Given the description of an element on the screen output the (x, y) to click on. 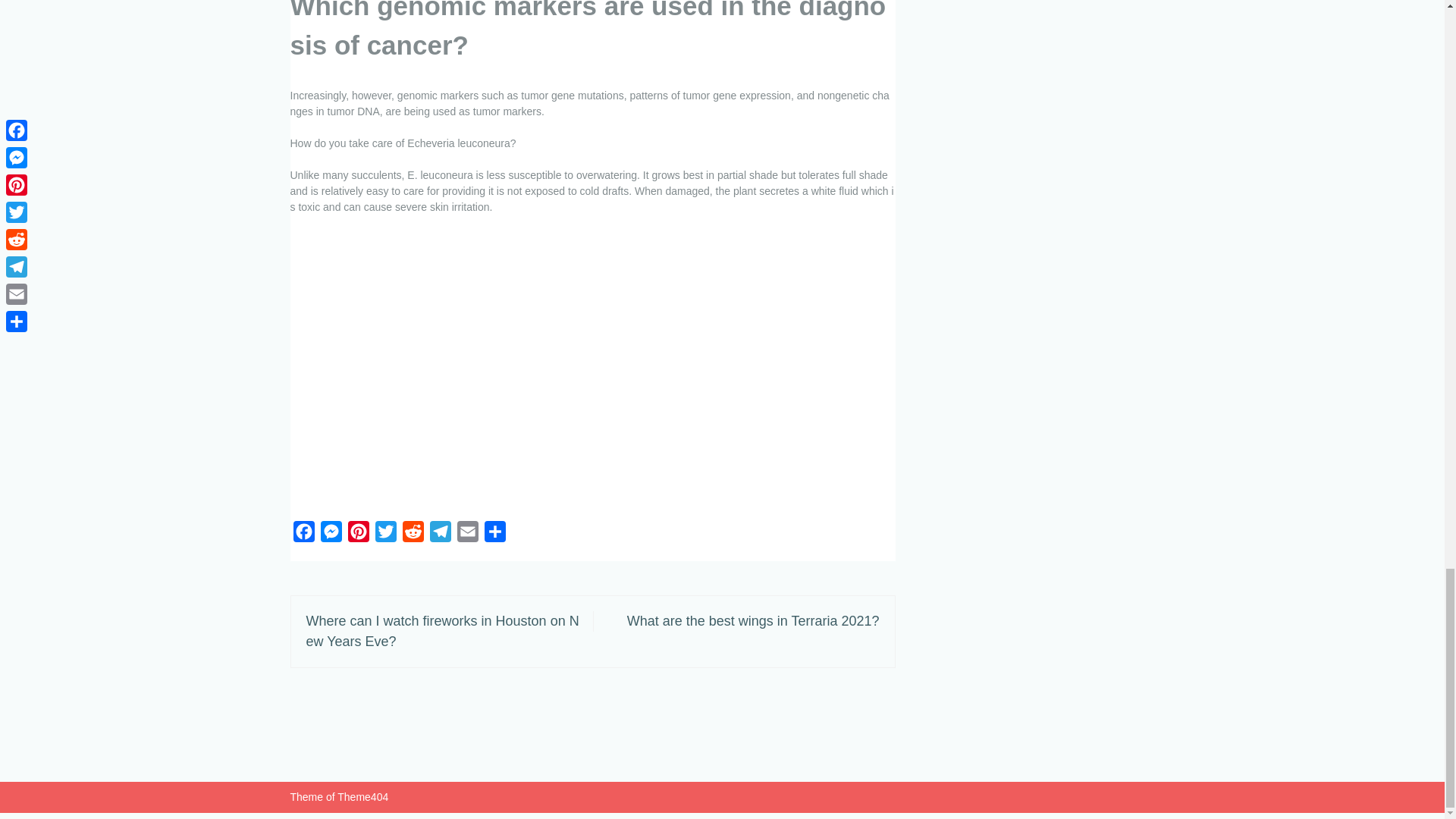
Email (466, 534)
How to Care for Euphorbia Leuconeura (531, 367)
What are the best wings in Terraria 2021? (753, 620)
Facebook (303, 534)
Email (466, 534)
Theme404 (362, 797)
Pinterest (357, 534)
Telegram (439, 534)
Pinterest (357, 534)
Telegram (439, 534)
Where can I watch fireworks in Houston on New Years Eve? (442, 631)
Messenger (330, 534)
Reddit (412, 534)
Messenger (330, 534)
Facebook (303, 534)
